Given the description of an element on the screen output the (x, y) to click on. 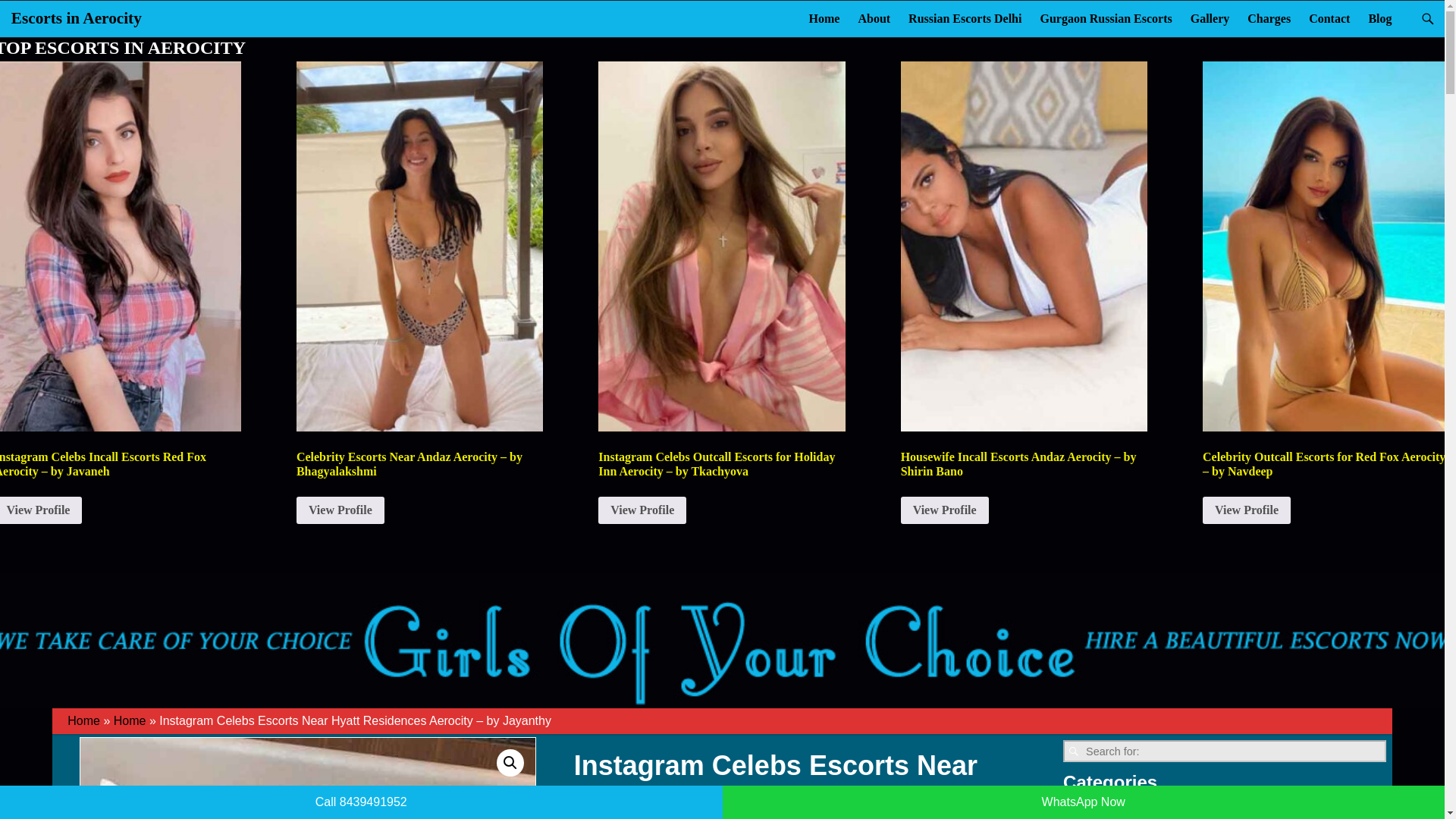
View Profile (641, 510)
Home (823, 17)
Gurgaon Russian Escorts (1105, 17)
View Profile (40, 510)
Home (130, 720)
View Profile (1246, 510)
View Profile (944, 510)
Russian Escorts Delhi (964, 17)
Blog (1379, 17)
Gallery (1209, 17)
View Profile (340, 510)
jayanthy (307, 778)
Escorts in Aerocity (76, 18)
About (873, 17)
Home (83, 720)
